Given the description of an element on the screen output the (x, y) to click on. 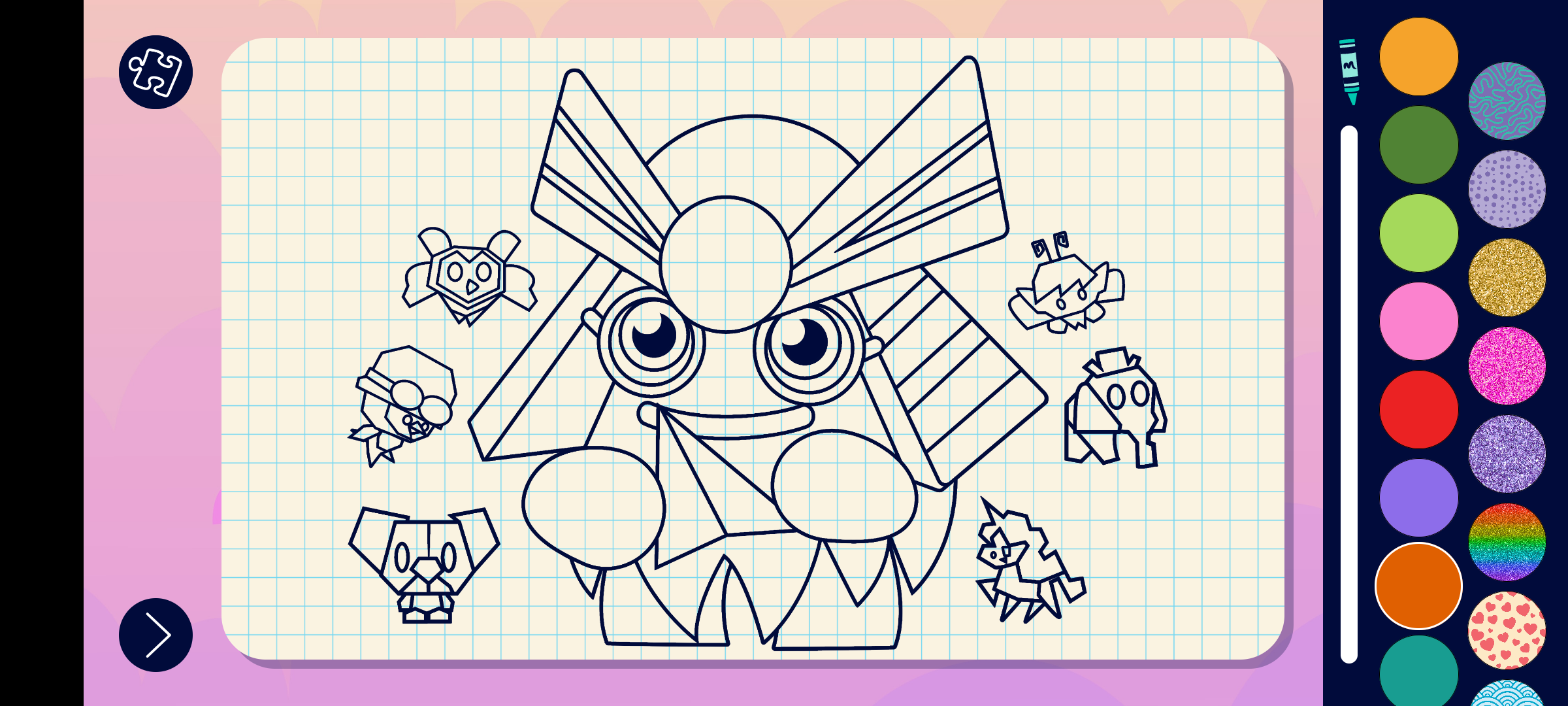
coloring background (1507, 101)
coloring background (1507, 189)
coloring background (1507, 277)
coloring background (1507, 365)
coloring background (1507, 454)
coloring background (1507, 542)
coloring background (1507, 630)
